Given the description of an element on the screen output the (x, y) to click on. 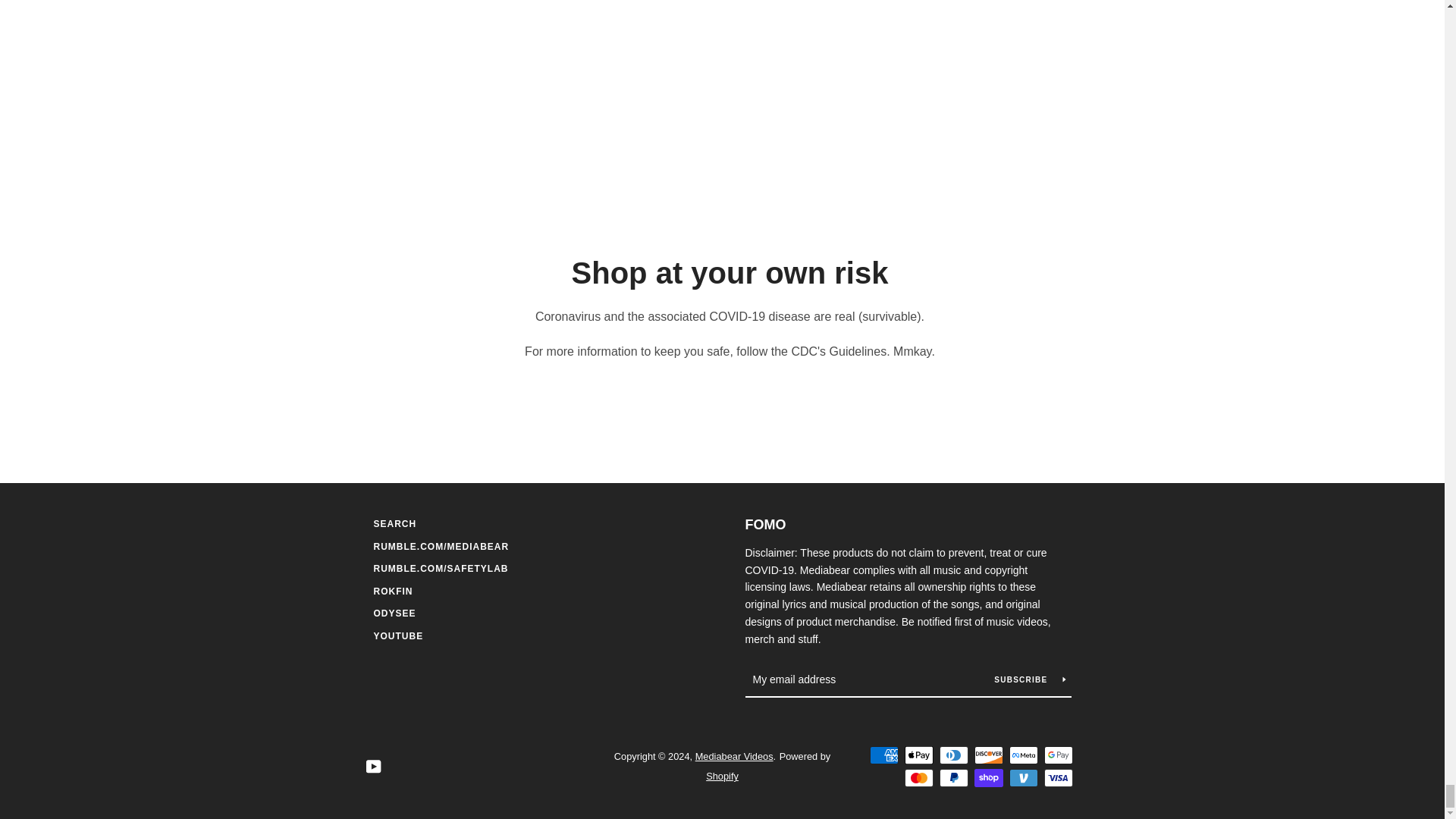
Visa (1057, 778)
Shop Pay (988, 778)
Venmo (1022, 778)
Apple Pay (918, 755)
American Express (883, 755)
Meta Pay (1022, 755)
PayPal (953, 778)
Mediabear Videos on YouTube (372, 765)
Mastercard (918, 778)
Diners Club (953, 755)
